Given the description of an element on the screen output the (x, y) to click on. 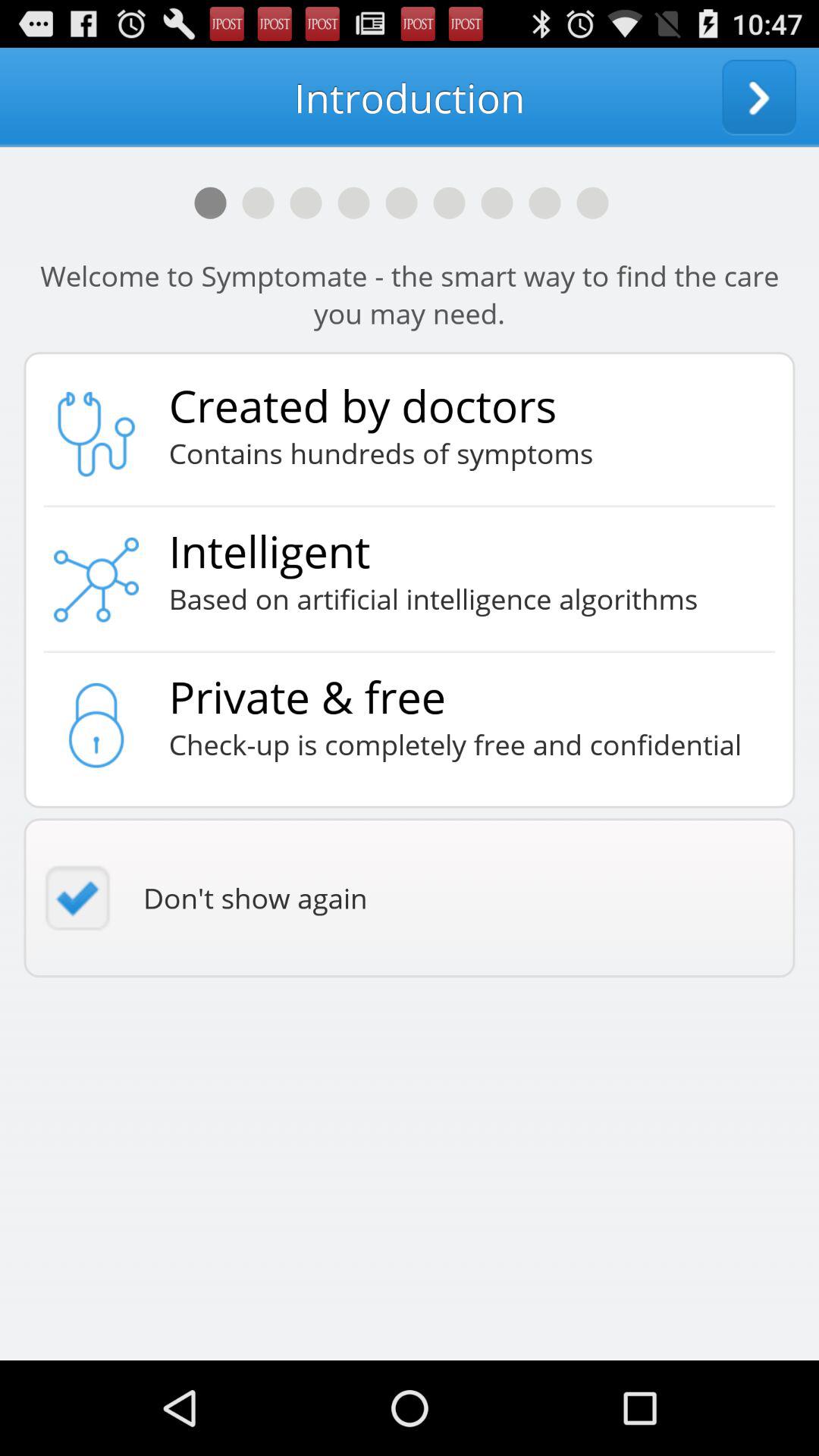
next screen (759, 97)
